Given the description of an element on the screen output the (x, y) to click on. 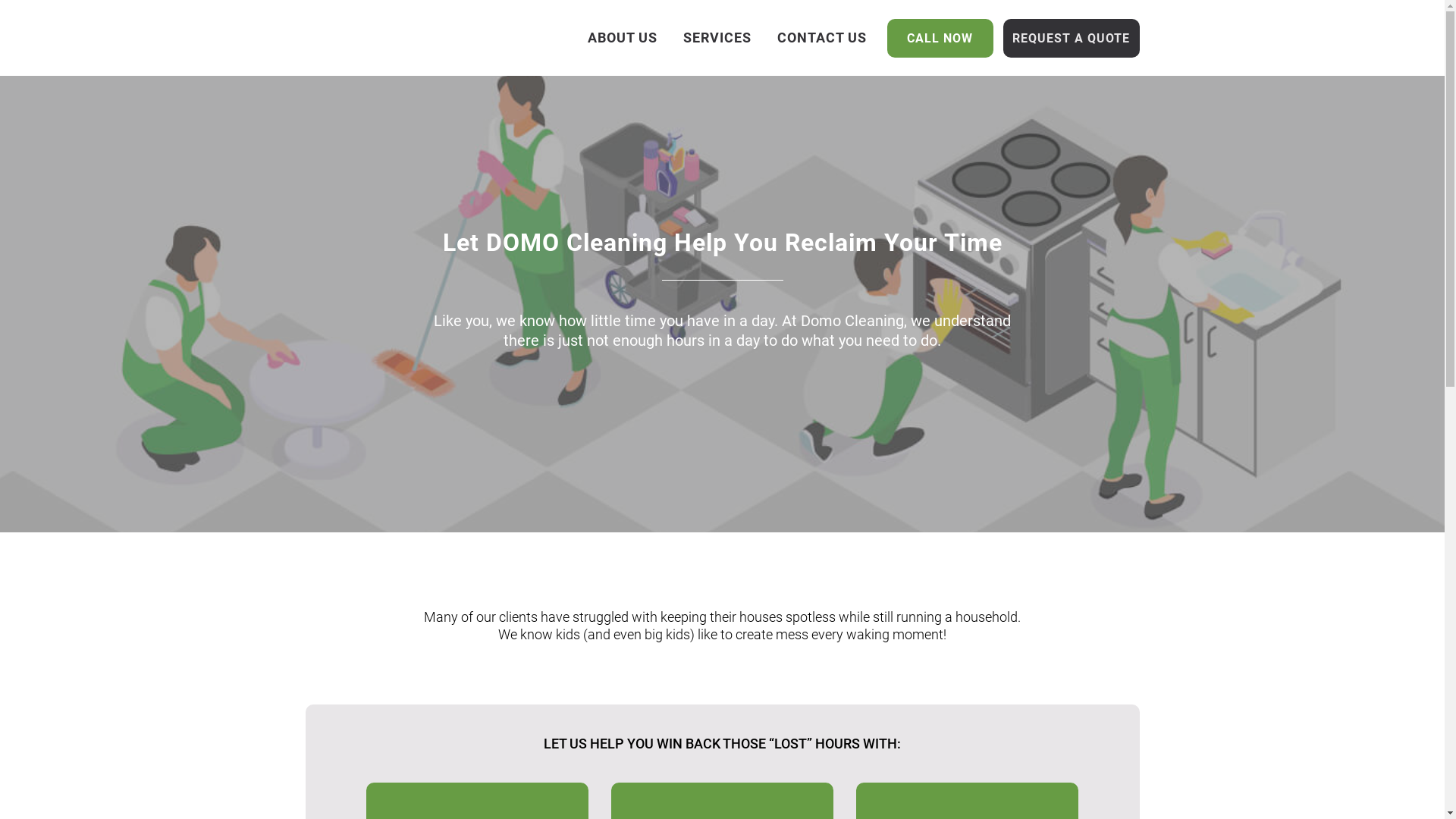
REQUEST A QUOTE Element type: text (1070, 37)
SERVICES Element type: text (717, 37)
CALL NOW Element type: text (940, 37)
ABOUT US Element type: text (622, 37)
CONTACT US Element type: text (821, 37)
